Given the description of an element on the screen output the (x, y) to click on. 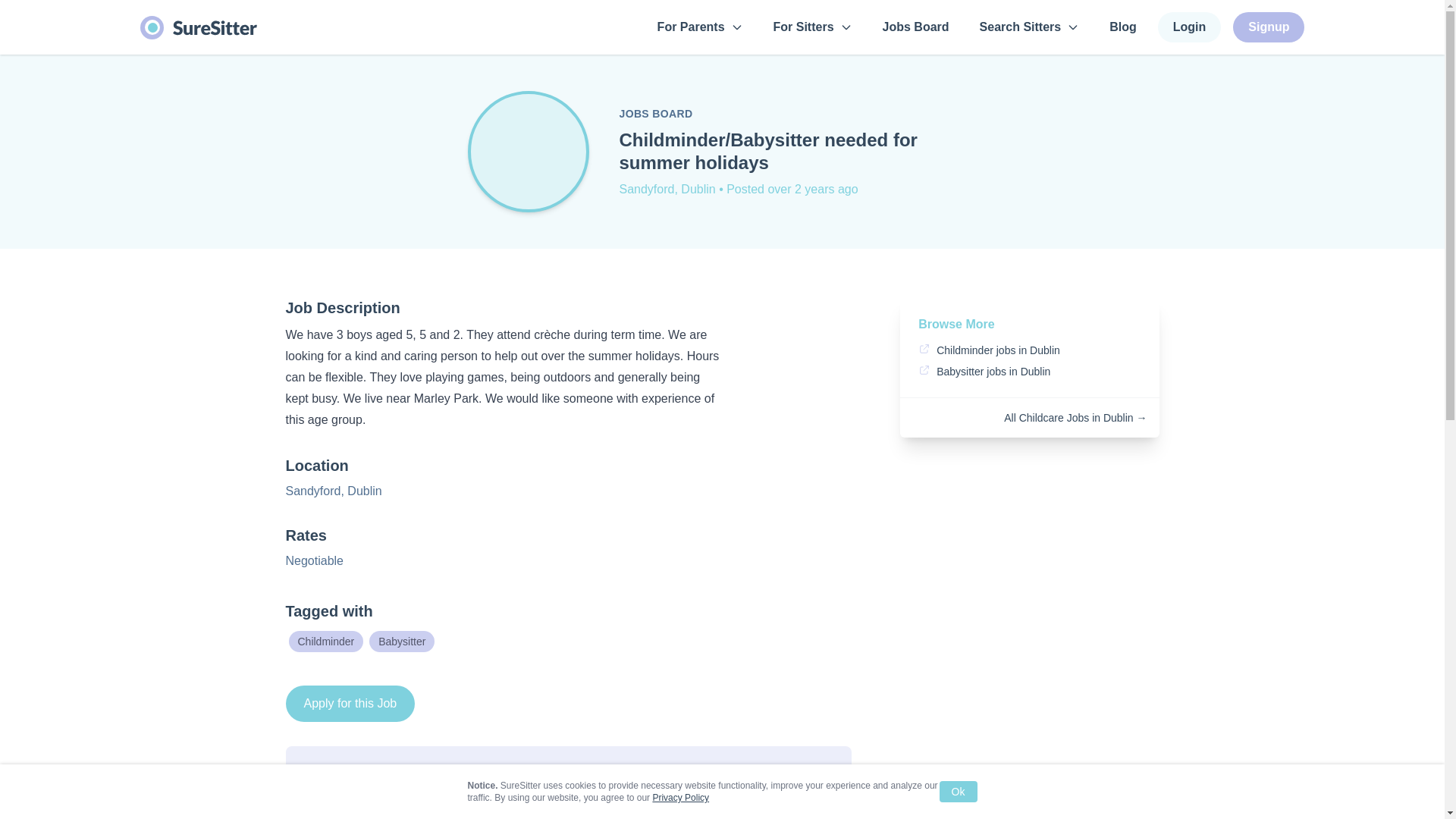
Search Sitters (1030, 27)
For Sitters (812, 27)
Jobs Board (915, 26)
For Parents (699, 27)
Login (1189, 27)
Blog (1122, 26)
Apply for this Job (349, 703)
Signup (1268, 27)
Message Kelly C. (750, 790)
